Given the description of an element on the screen output the (x, y) to click on. 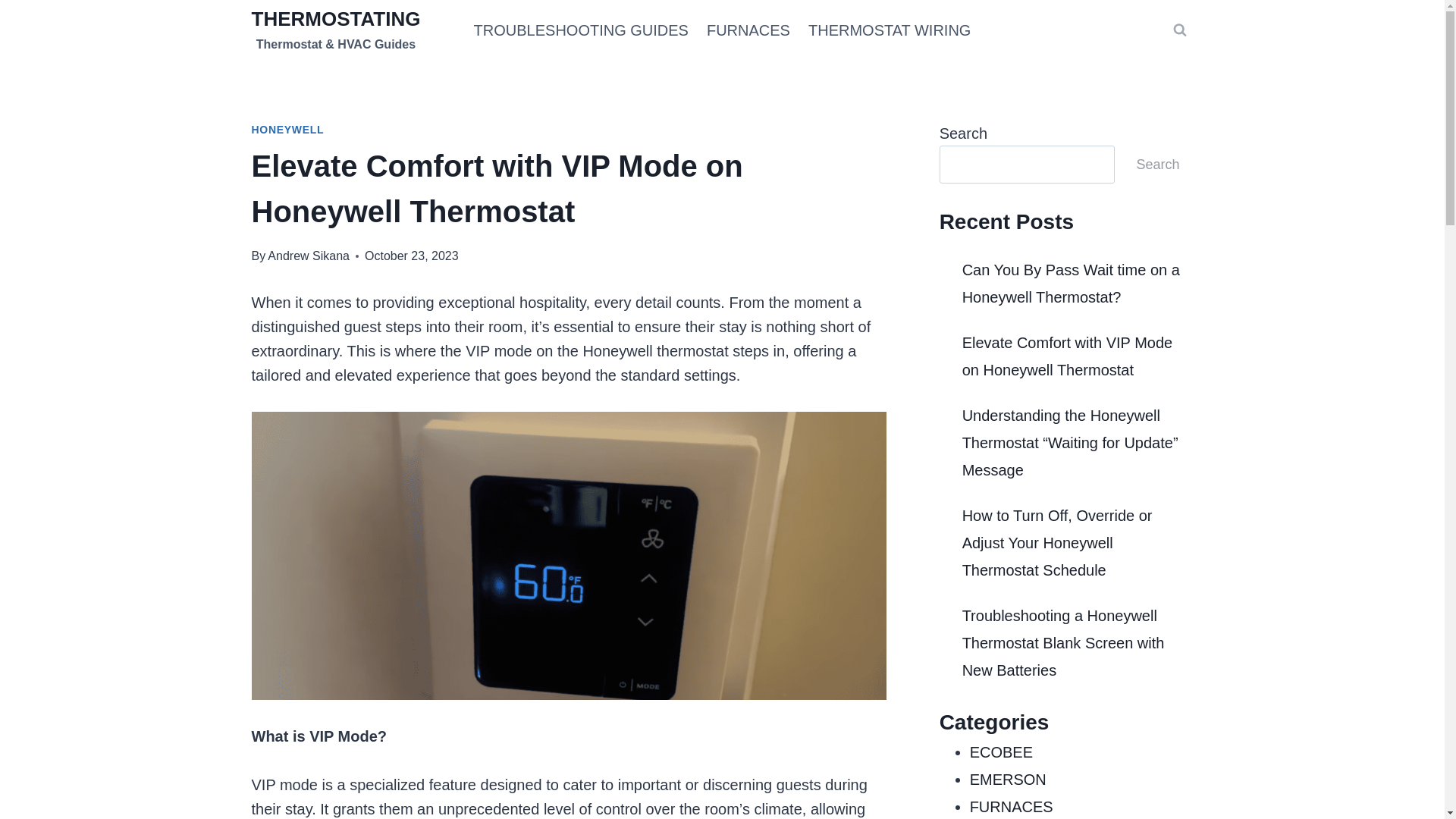
FURNACES (748, 30)
HONEYWELL (287, 129)
THERMOSTAT WIRING (889, 30)
TROUBLESHOOTING GUIDES (580, 30)
Andrew Sikana (308, 255)
